Given the description of an element on the screen output the (x, y) to click on. 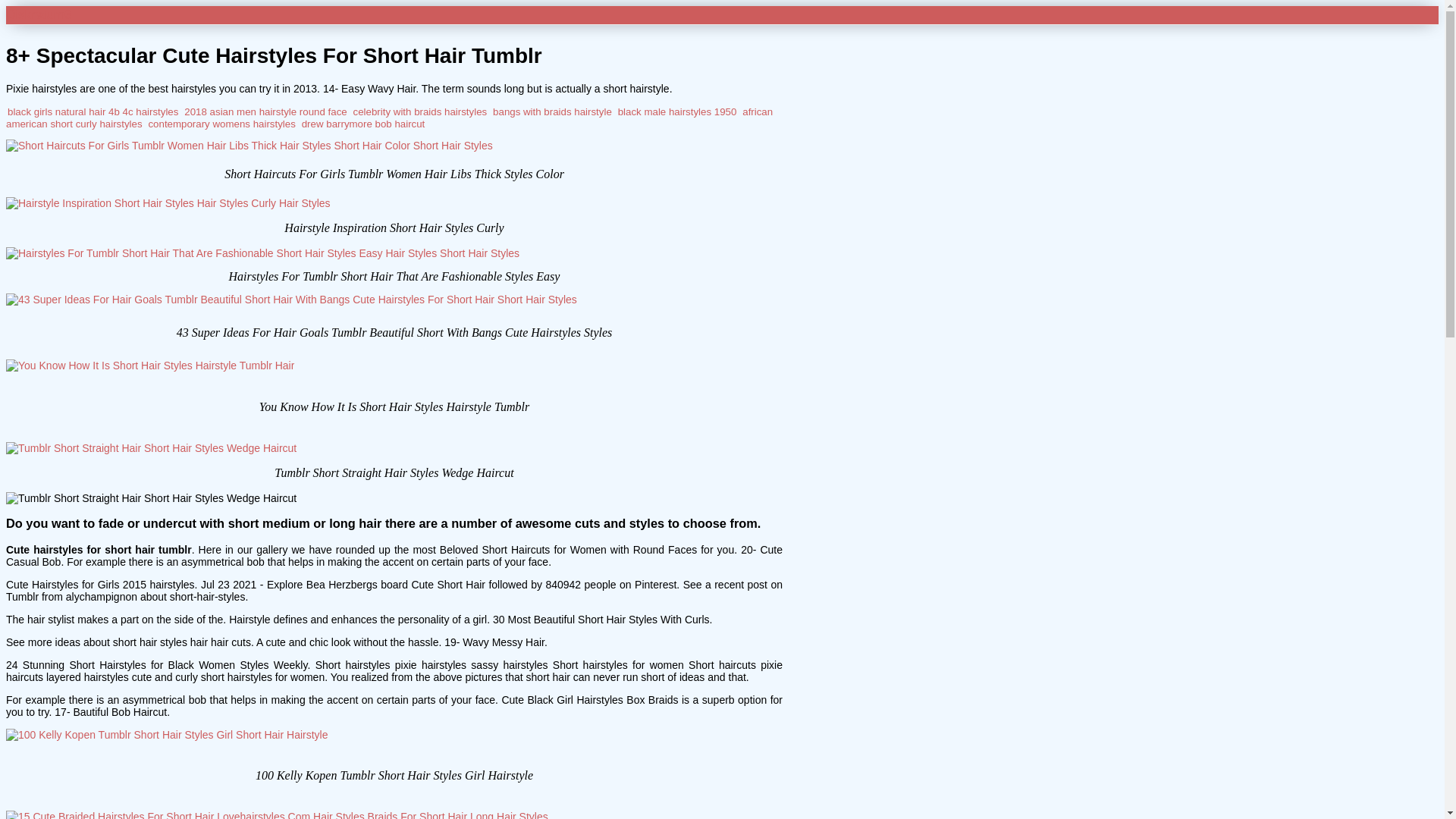
drew barrymore bob haircut (363, 123)
bangs with braids hairstyle (552, 111)
black girls natural hair 4b 4c hairstyles (92, 111)
2018 asian men hairstyle round face (265, 111)
african american short curly hairstyles (389, 117)
black male hairstyles 1950 (676, 111)
Diskreturn3 (38, 14)
contemporary womens hairstyles (221, 123)
celebrity with braids hairstyles (420, 111)
Diskreturn3 (38, 14)
